Given the description of an element on the screen output the (x, y) to click on. 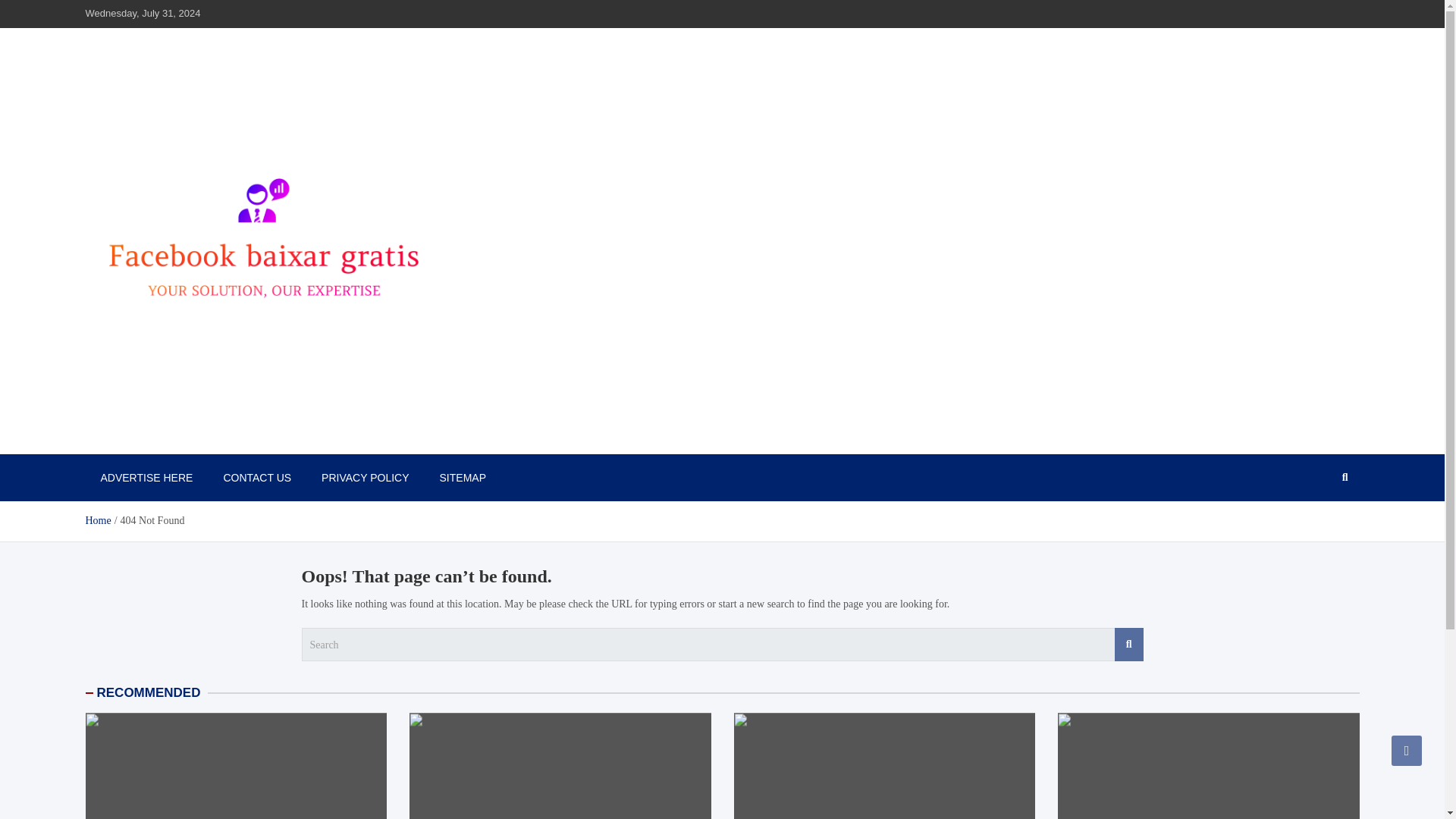
SITEMAP (462, 477)
Home (97, 520)
Facebook baixar gratis (203, 437)
PRIVACY POLICY (364, 477)
RECOMMENDED (148, 692)
ADVERTISE HERE (146, 477)
Go to Top (1406, 750)
CONTACT US (256, 477)
